Given the description of an element on the screen output the (x, y) to click on. 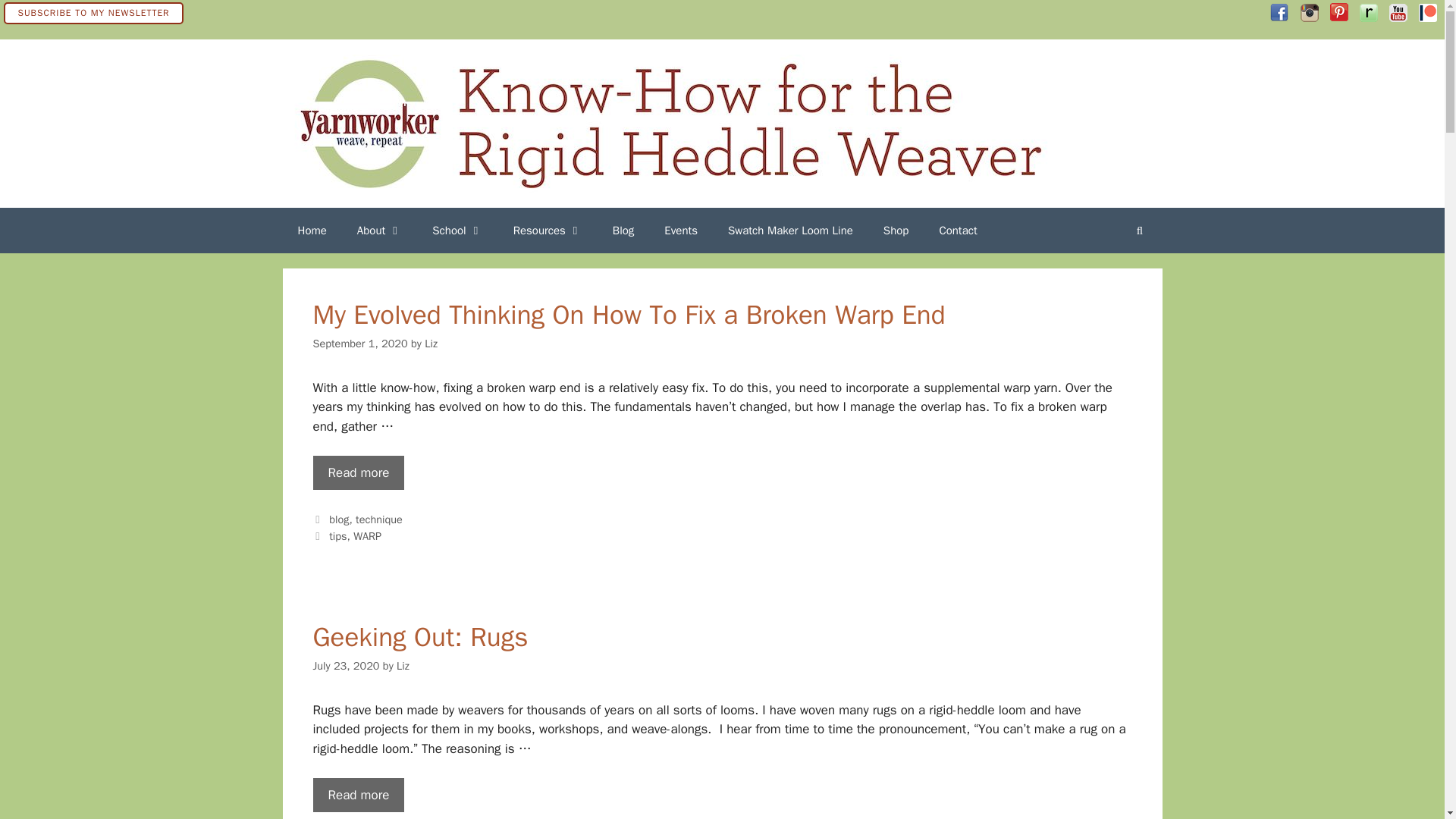
Home (311, 230)
View all posts by Liz (402, 665)
SUBSCRIBE TO MY NEWSLETTER (92, 12)
About (379, 230)
View all posts by Liz (431, 343)
Geeking Out: Rugs (358, 795)
School (456, 230)
My Evolved Thinking On How To Fix a Broken Warp End (358, 472)
